Given the description of an element on the screen output the (x, y) to click on. 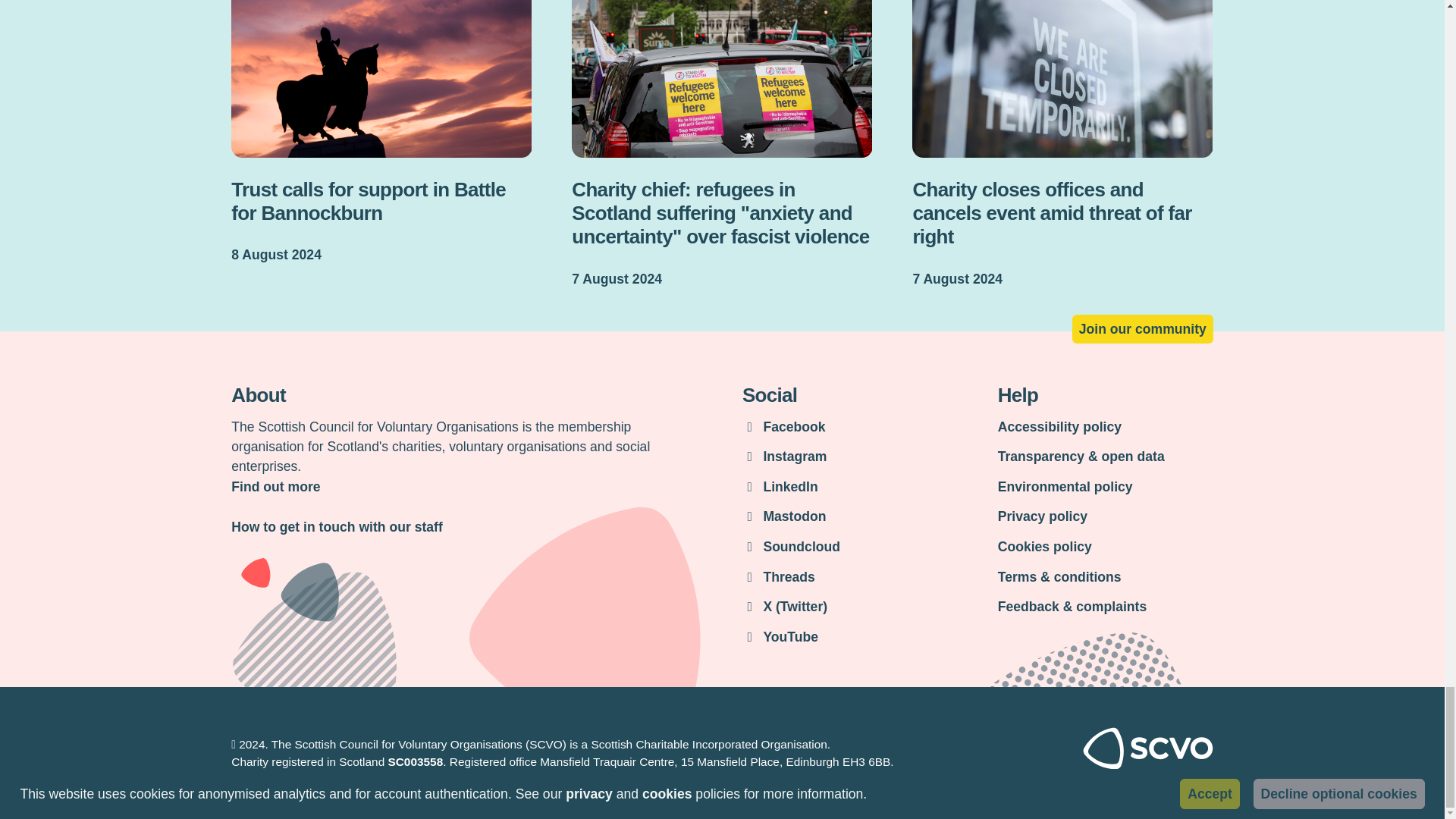
Trust calls for support in Battle for Bannockburn (381, 133)
Scottish Council for Voluntary Organisations (1147, 765)
